Given the description of an element on the screen output the (x, y) to click on. 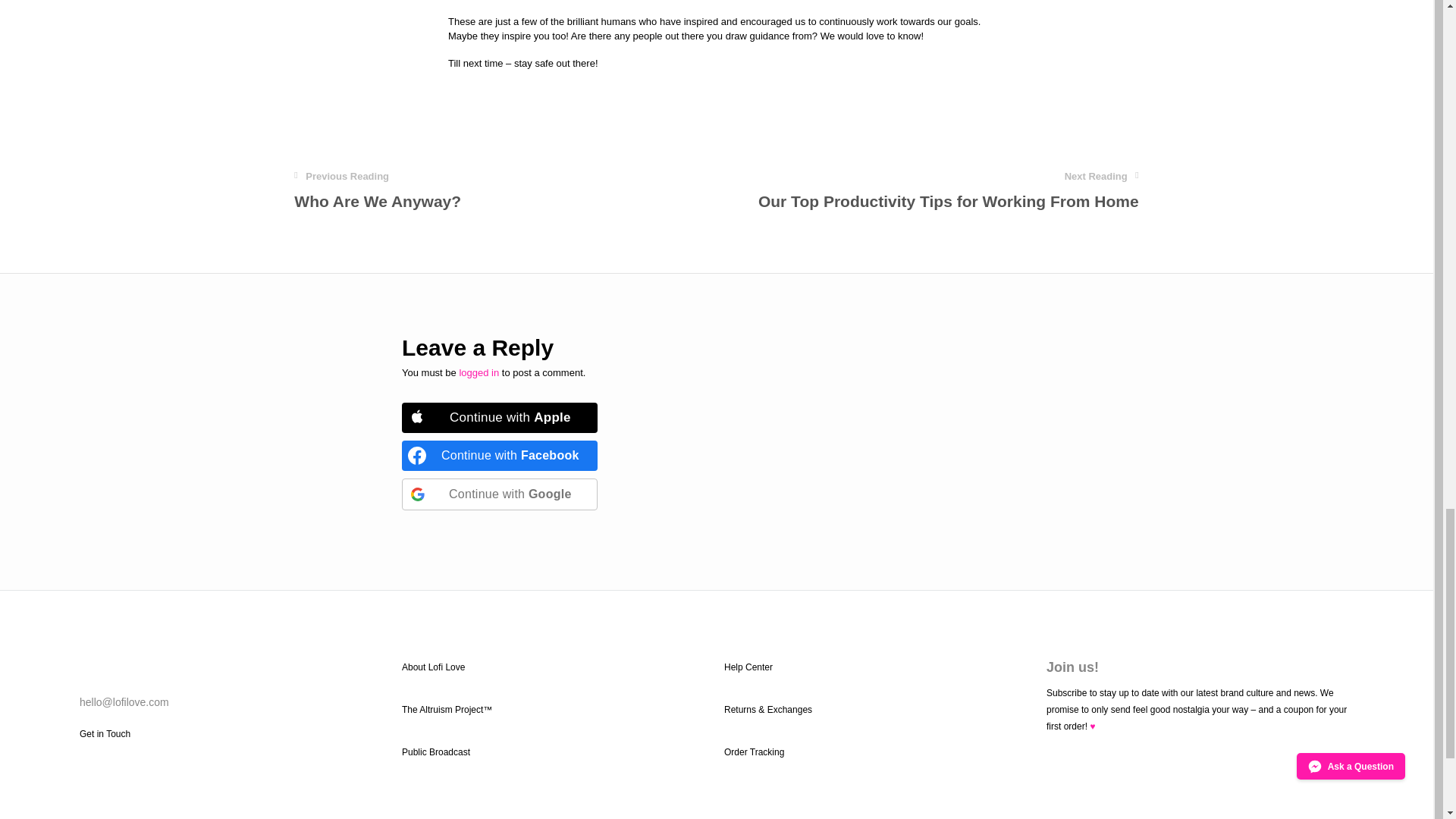
Order Tracking (948, 191)
Help Center (753, 751)
Continue with Apple (748, 666)
logged in (498, 417)
Continue with Facebook (478, 372)
Continue with Google (498, 455)
Public Broadcast (498, 494)
Get in Touch (377, 191)
About Lofi Love (435, 751)
